Given the description of an element on the screen output the (x, y) to click on. 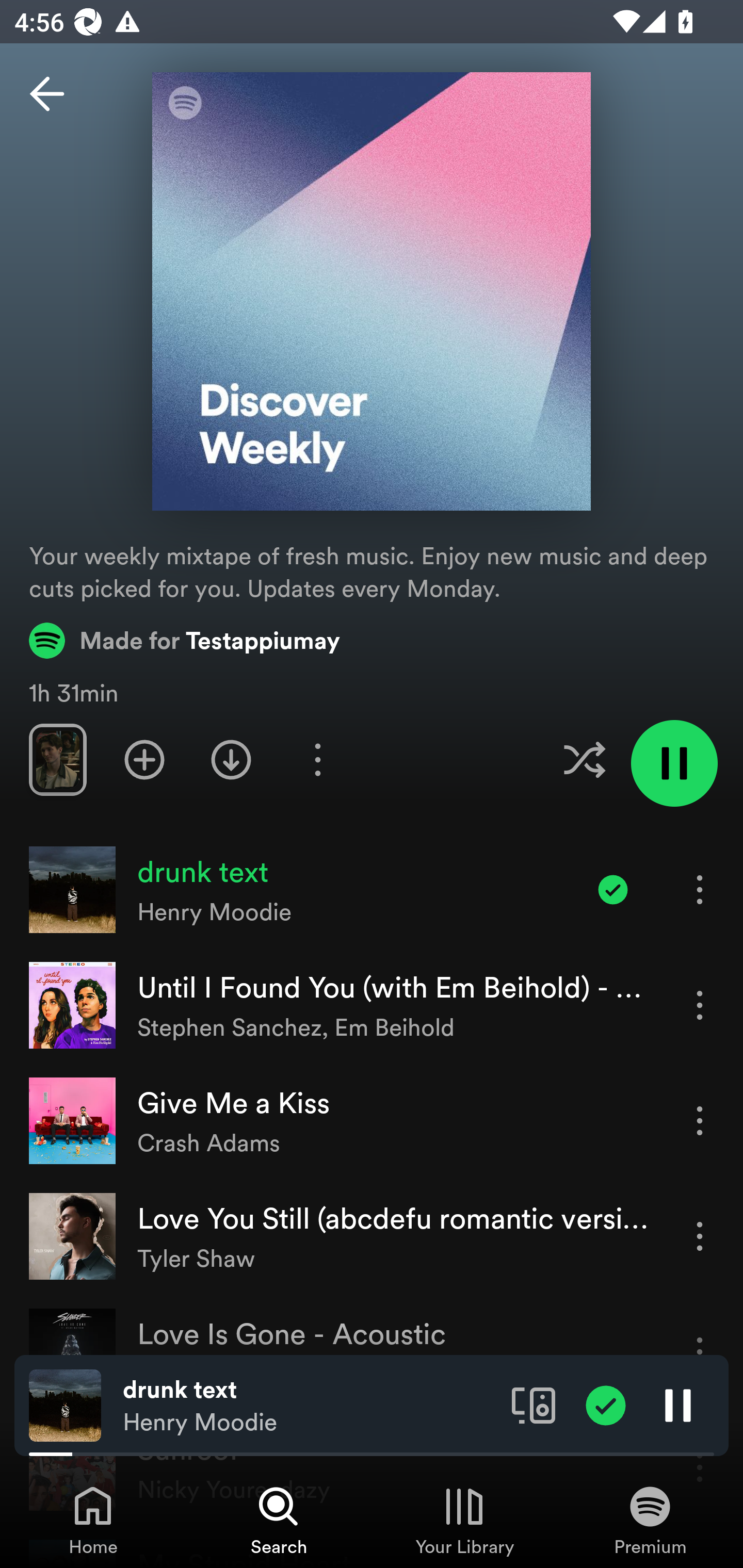
Back (46, 93)
Made for Testappiumay (184, 640)
Swipe through previews of tracks in this playlist. (57, 759)
Add playlist to Your Library (144, 759)
Download (230, 759)
More options for playlist Discover Weekly (317, 759)
Enable shuffle for this playlist (583, 759)
Pause playlist (674, 763)
Item added (612, 889)
More options for song drunk text (699, 889)
More options for song Give Me a Kiss (699, 1120)
drunk text Henry Moodie (309, 1405)
The cover art of the currently playing track (64, 1404)
Connect to a device. Opens the devices menu (533, 1404)
Item added (605, 1404)
Pause (677, 1404)
Home, Tab 1 of 4 Home Home (92, 1519)
Search, Tab 2 of 4 Search Search (278, 1519)
Your Library, Tab 3 of 4 Your Library Your Library (464, 1519)
Premium, Tab 4 of 4 Premium Premium (650, 1519)
